Given the description of an element on the screen output the (x, y) to click on. 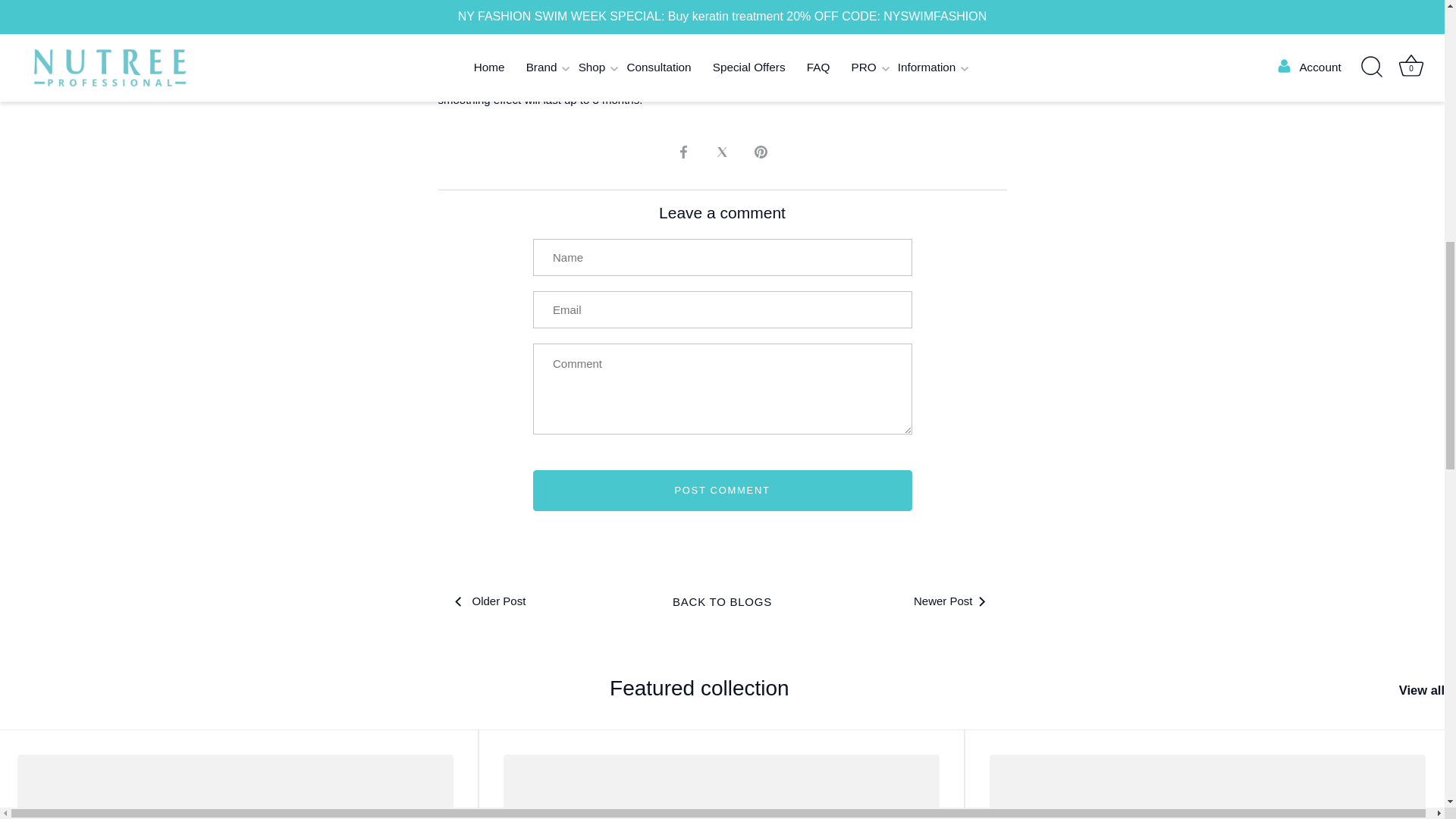
Post comment (721, 490)
